Given the description of an element on the screen output the (x, y) to click on. 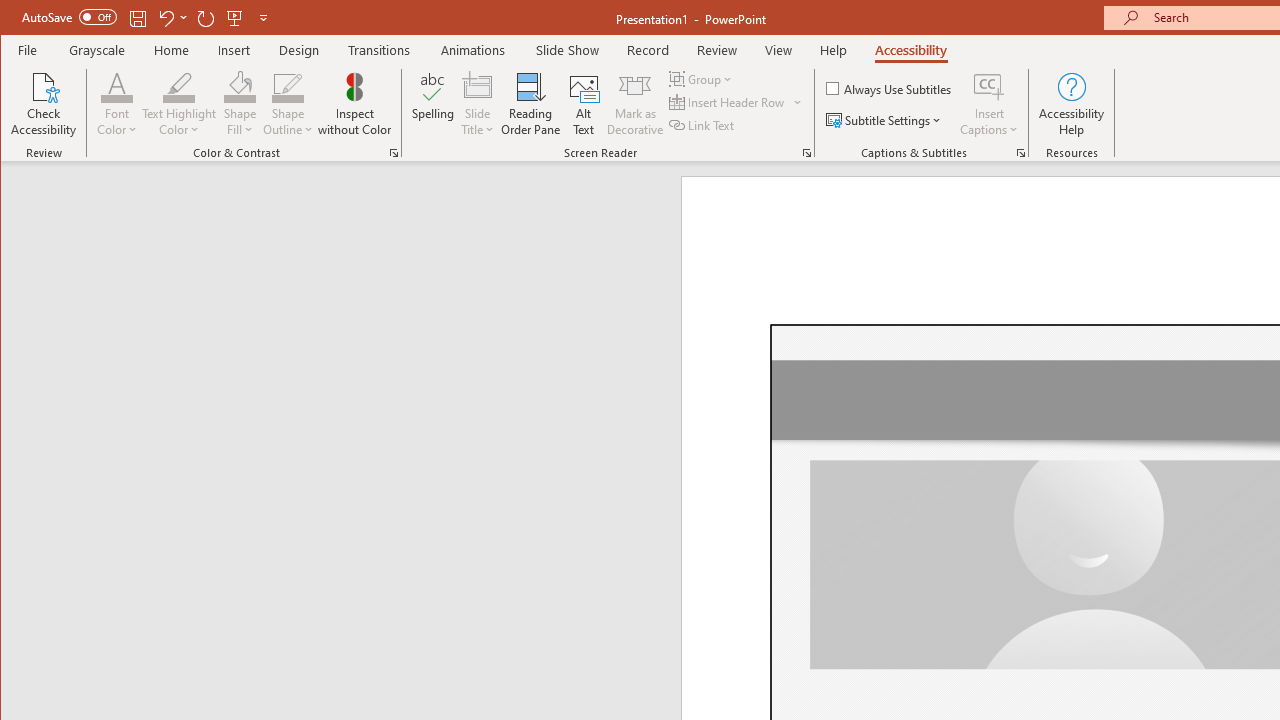
Captions & Subtitles (1020, 152)
Insert Header Row (735, 101)
Shape Fill Orange, Accent 2 (239, 86)
